Given the description of an element on the screen output the (x, y) to click on. 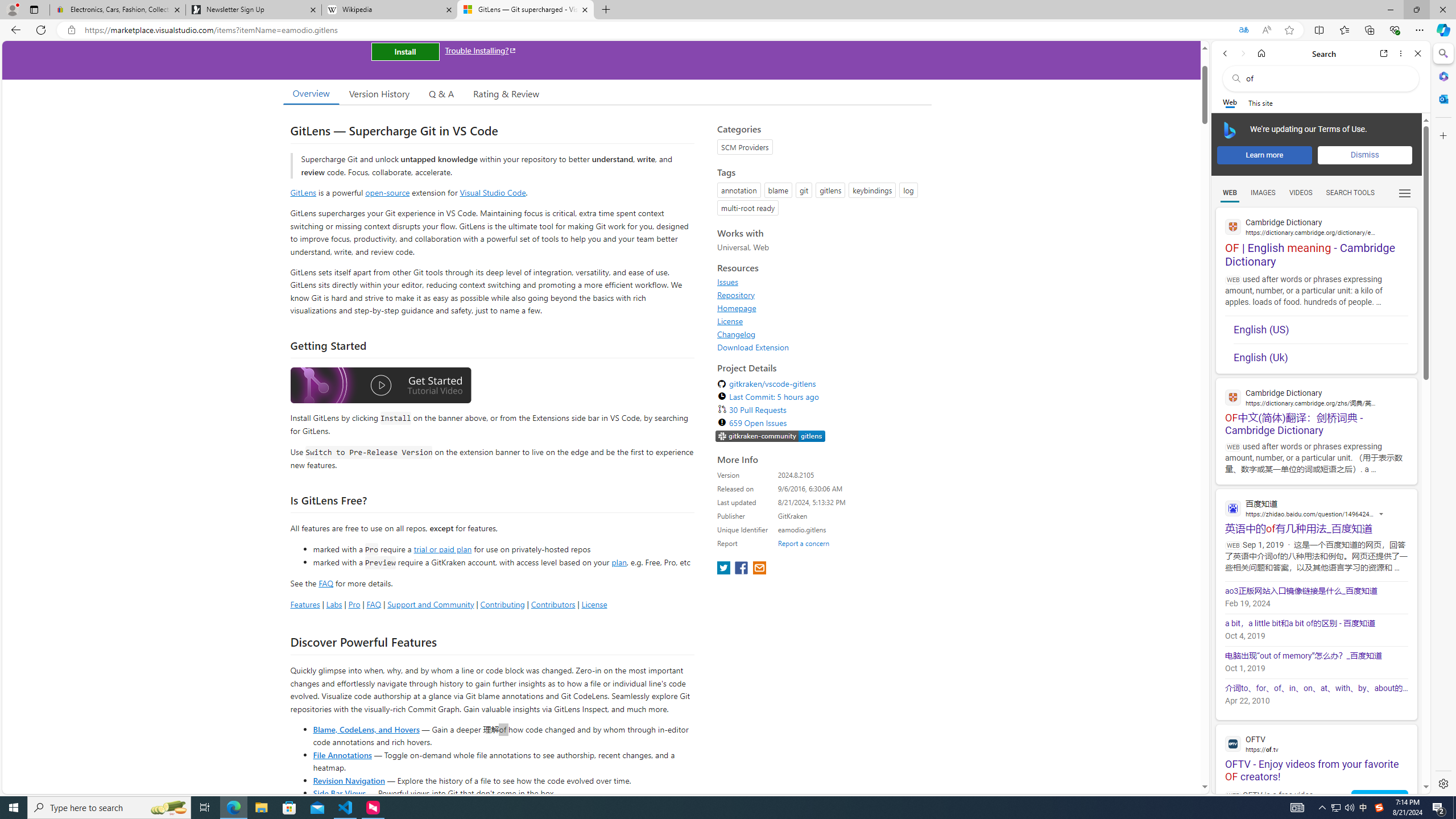
Wikipedia (390, 9)
Repository (735, 294)
Translated (1243, 29)
Visual Studio Code (492, 192)
License (729, 320)
Changelog (820, 333)
Cambridge Dictionary (1315, 397)
Side bar (1443, 418)
